Given the description of an element on the screen output the (x, y) to click on. 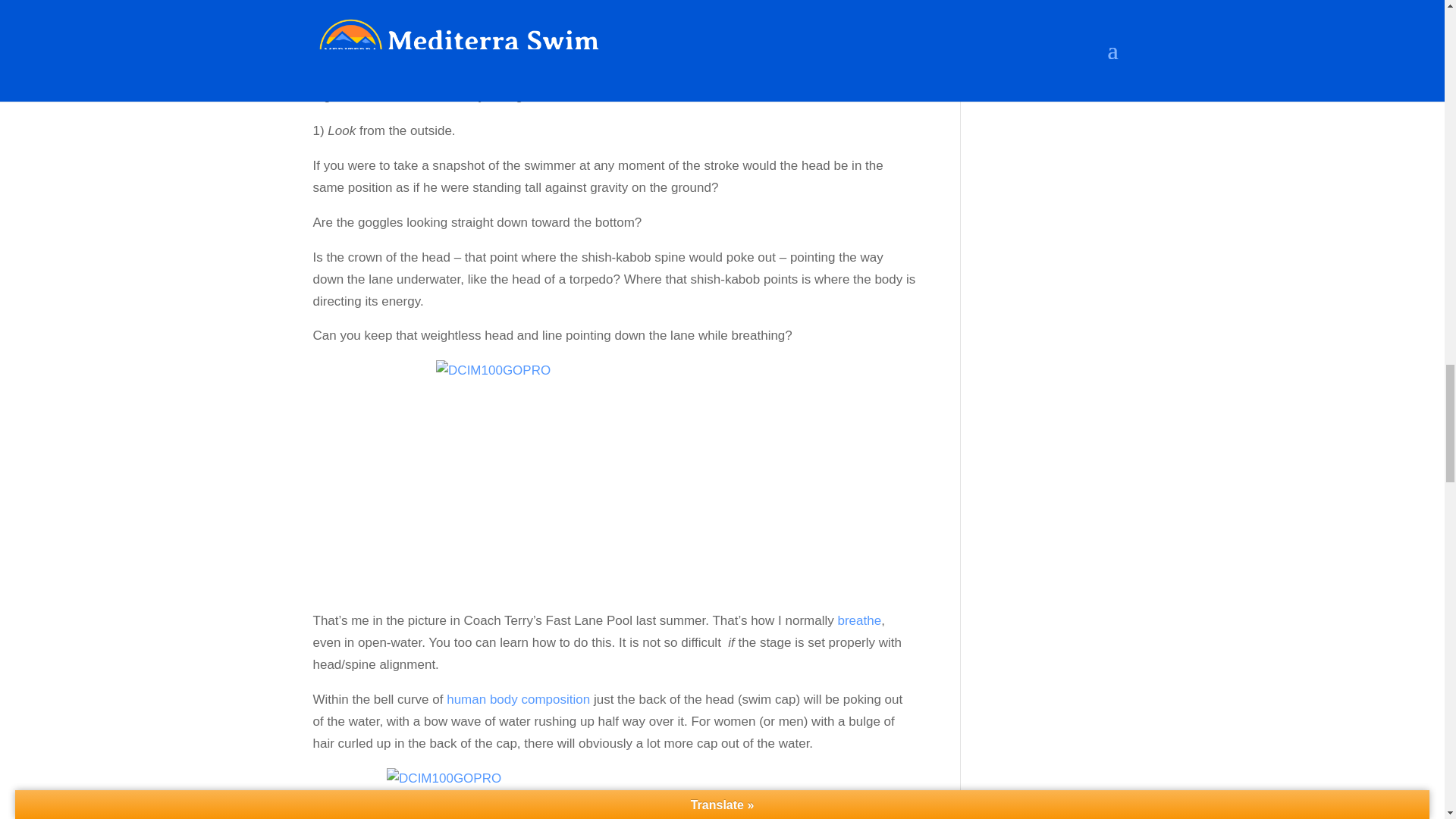
breathe (858, 620)
Body Composition For Swimming (517, 699)
Breathe Easy (858, 620)
human body composition (517, 699)
